Given the description of an element on the screen output the (x, y) to click on. 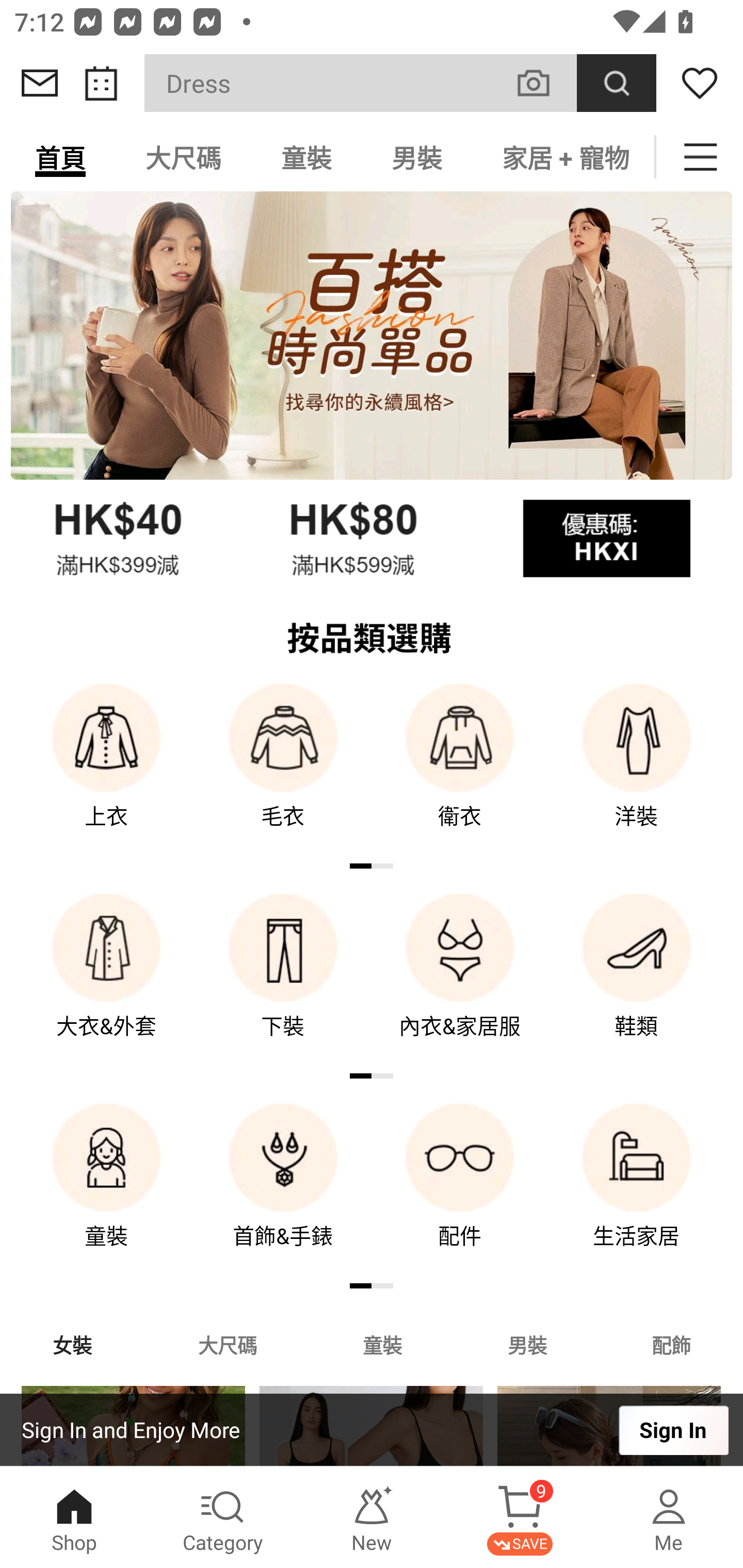
Wishlist (699, 82)
VISUAL SEARCH (543, 82)
首頁 (60, 156)
大尺碼 (183, 156)
童裝 (306, 156)
男裝 (416, 156)
家居 + 寵物 (563, 156)
上衣 (105, 769)
毛衣 (282, 769)
衛衣 (459, 769)
洋裝 (636, 769)
大衣&外套 (105, 979)
下裝 (282, 979)
內衣&家居服 (459, 979)
鞋類 (636, 979)
童裝 (105, 1189)
首飾&手錶 (282, 1189)
配件 (459, 1189)
生活家居 (636, 1189)
女裝 (72, 1344)
大尺碼 (226, 1344)
童裝 (381, 1344)
男裝 (527, 1344)
配飾 (671, 1344)
Sign In and Enjoy More Sign In (371, 1429)
Category (222, 1517)
New (371, 1517)
Cart 9 SAVE (519, 1517)
Me (668, 1517)
